Given the description of an element on the screen output the (x, y) to click on. 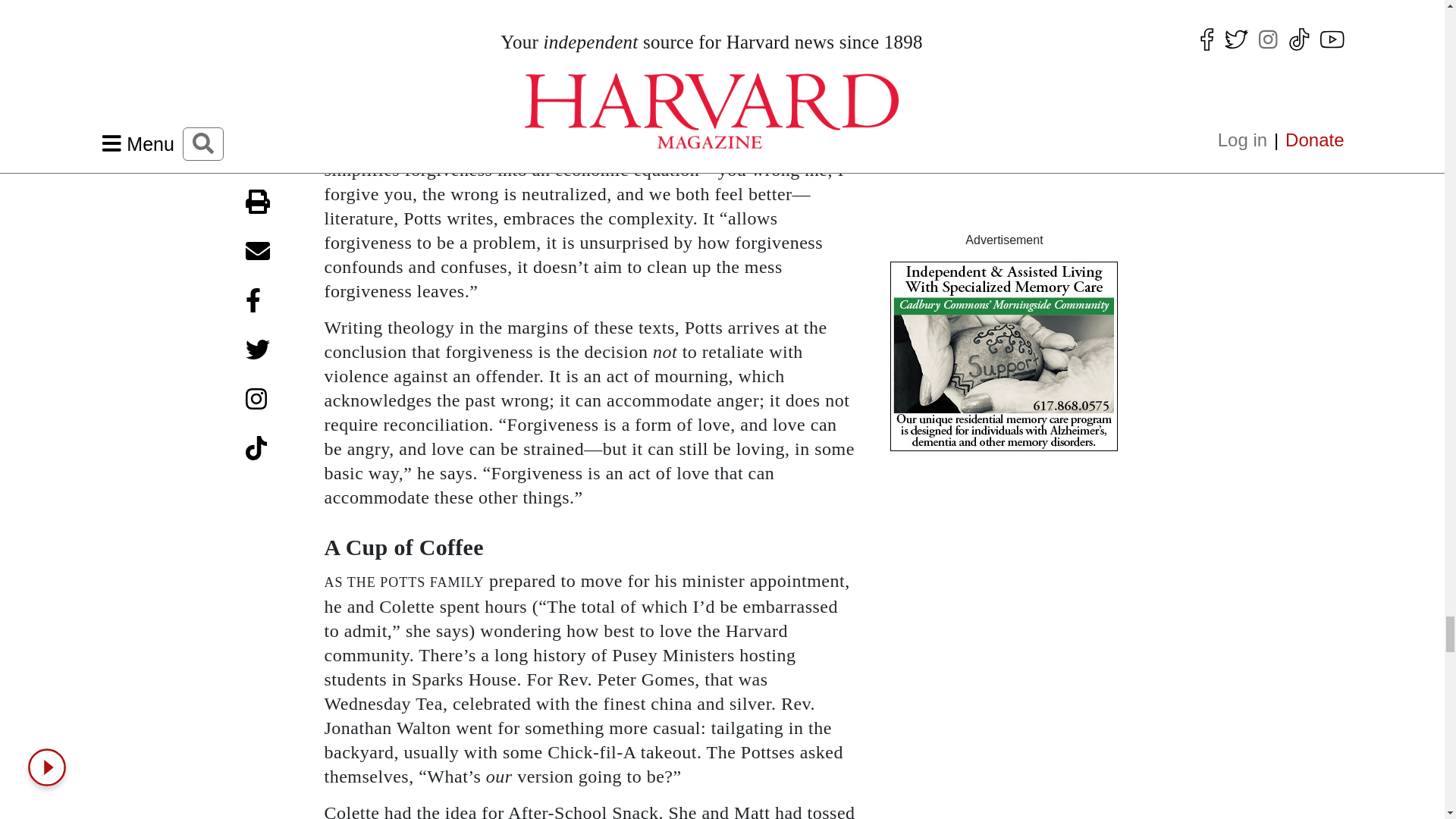
MJ20 Cadbury Commons: morningside 300x250 (1003, 356)
